Given the description of an element on the screen output the (x, y) to click on. 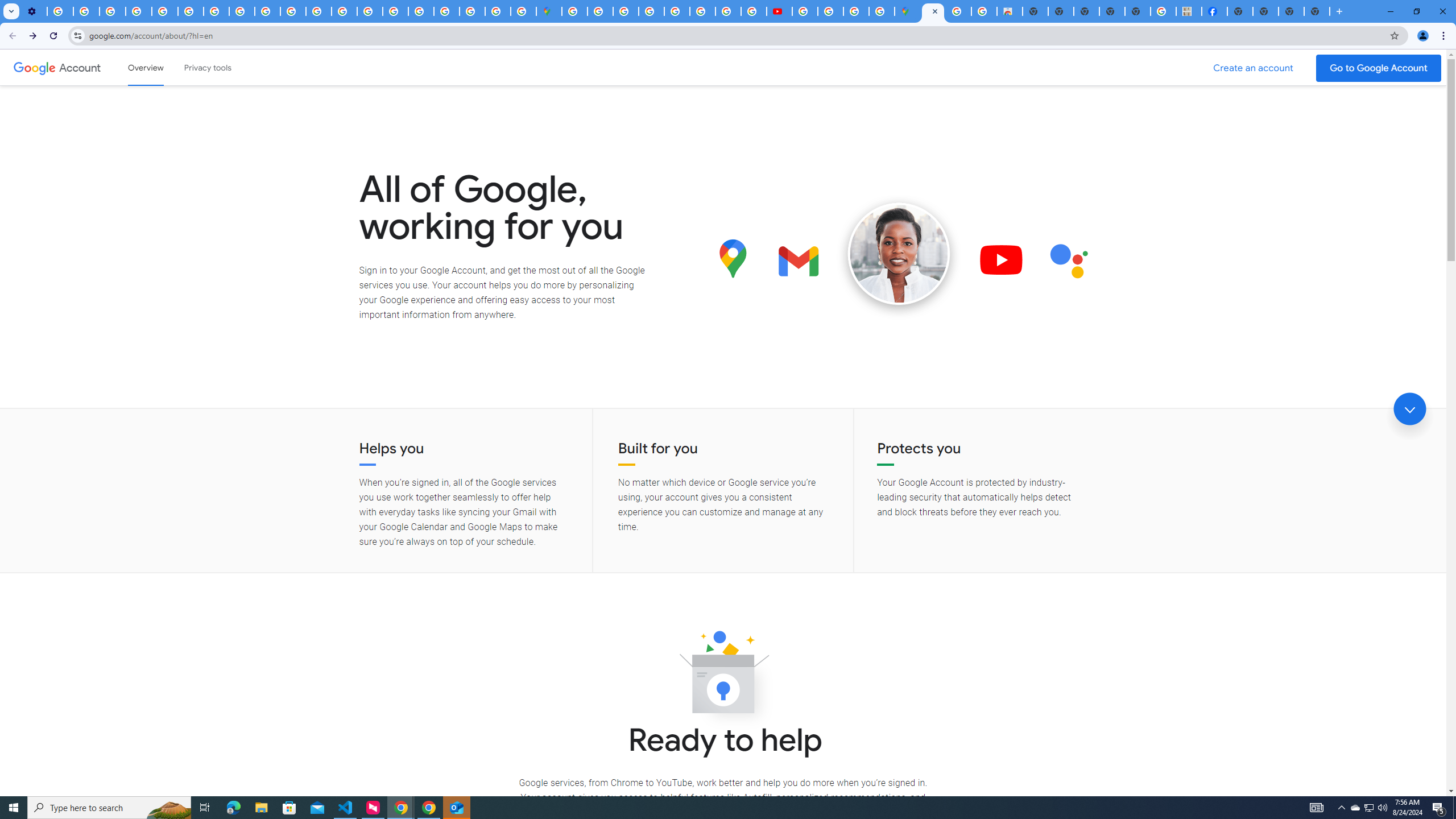
Subscriptions - YouTube (779, 11)
Privacy Help Center - Policies Help (702, 11)
Chrome Web Store - Shopping (1009, 11)
Sign in - Google Accounts (446, 11)
